Given the description of an element on the screen output the (x, y) to click on. 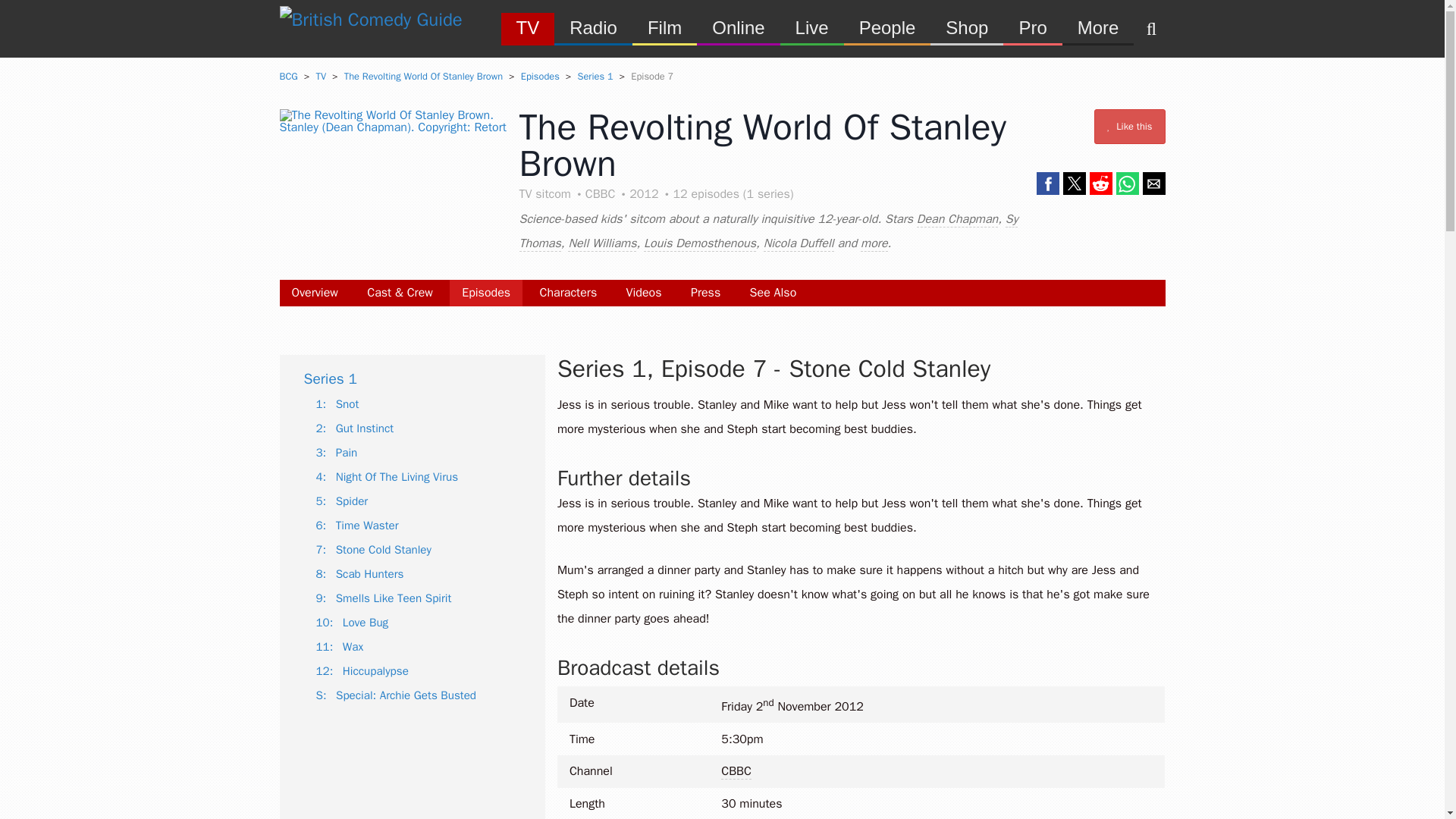
Press (705, 293)
2: Gut Instinct (354, 427)
Like for updates and more (1130, 126)
Videos (644, 293)
Shop (966, 27)
Sy Thomas (767, 231)
Series 1 (595, 76)
Louis Demosthenous (699, 243)
Radio (592, 27)
Series 1 (329, 379)
Dean Chapman (957, 219)
Film (664, 27)
See Also (773, 293)
TV (527, 27)
Characters (567, 293)
